Given the description of an element on the screen output the (x, y) to click on. 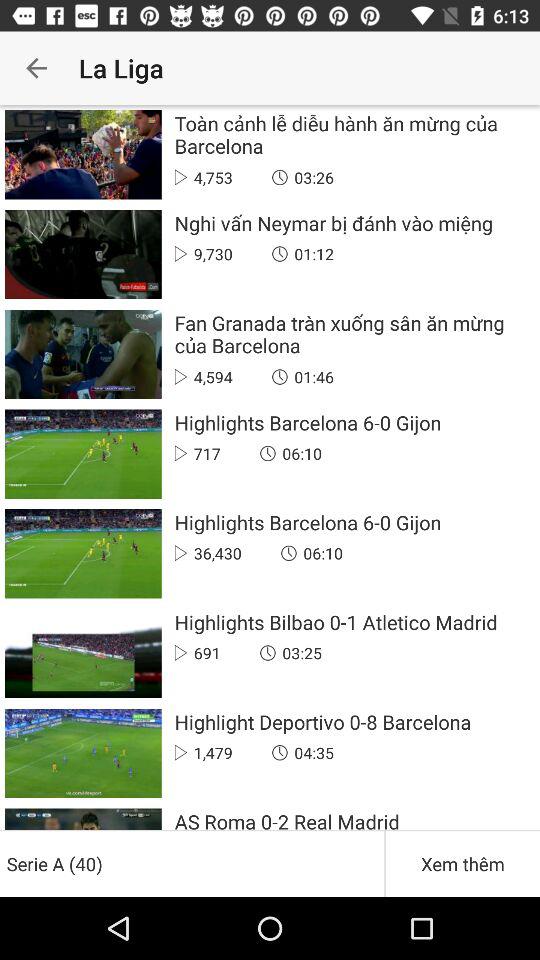
press icon to the left of the la liga app (36, 68)
